Given the description of an element on the screen output the (x, y) to click on. 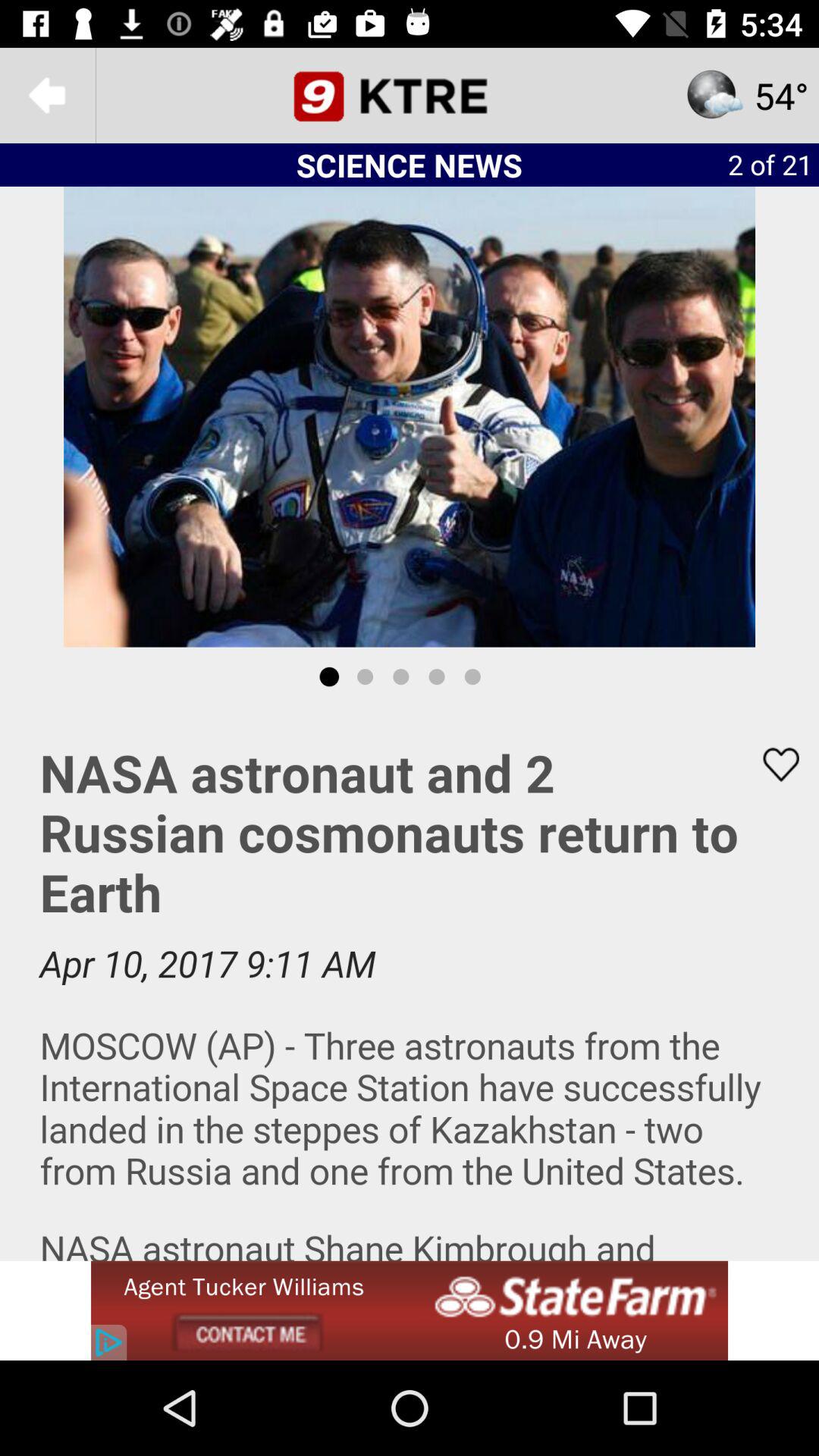
news channel (409, 95)
